Given the description of an element on the screen output the (x, y) to click on. 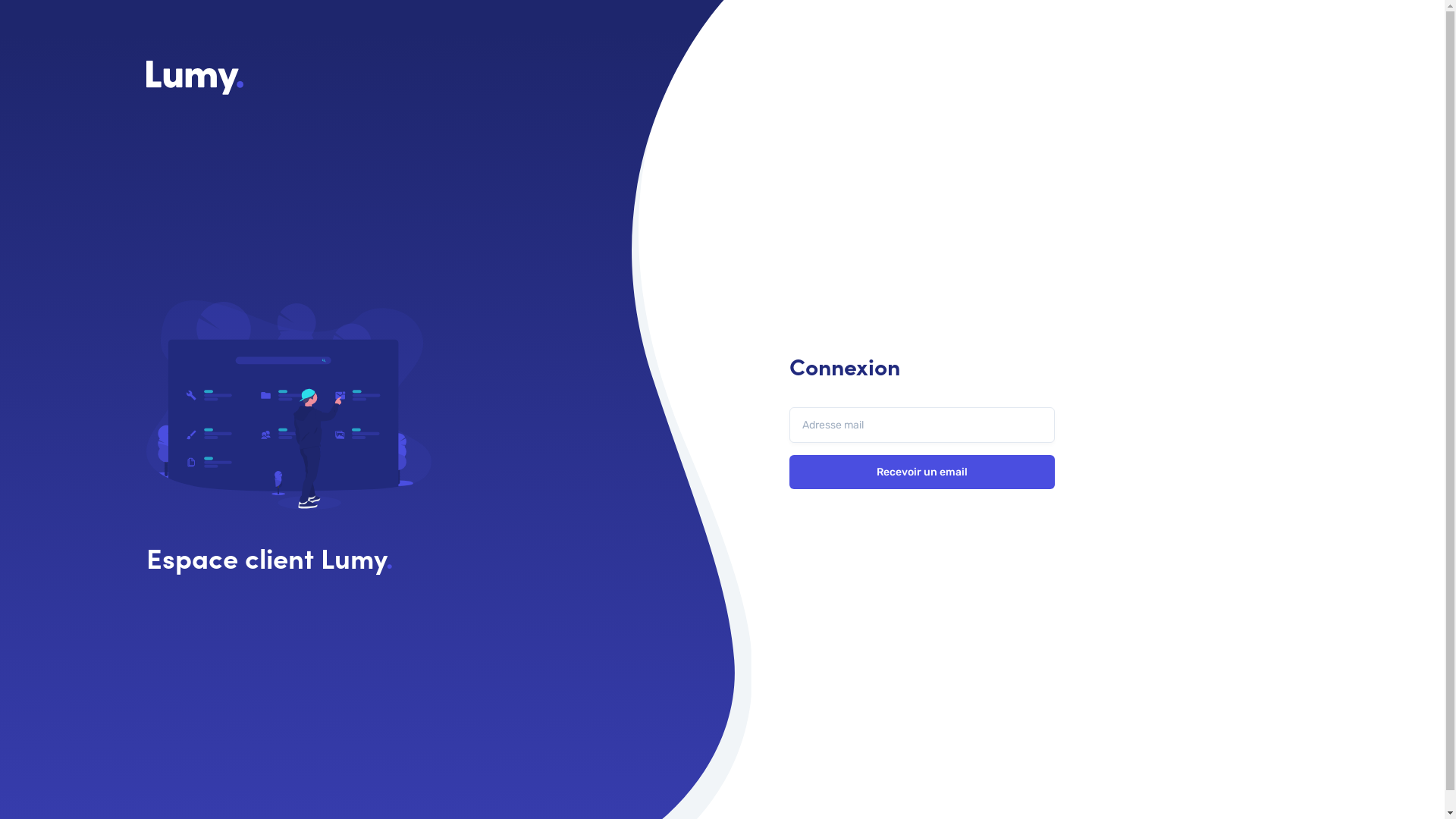
Recevoir un email Element type: text (921, 472)
